Given the description of an element on the screen output the (x, y) to click on. 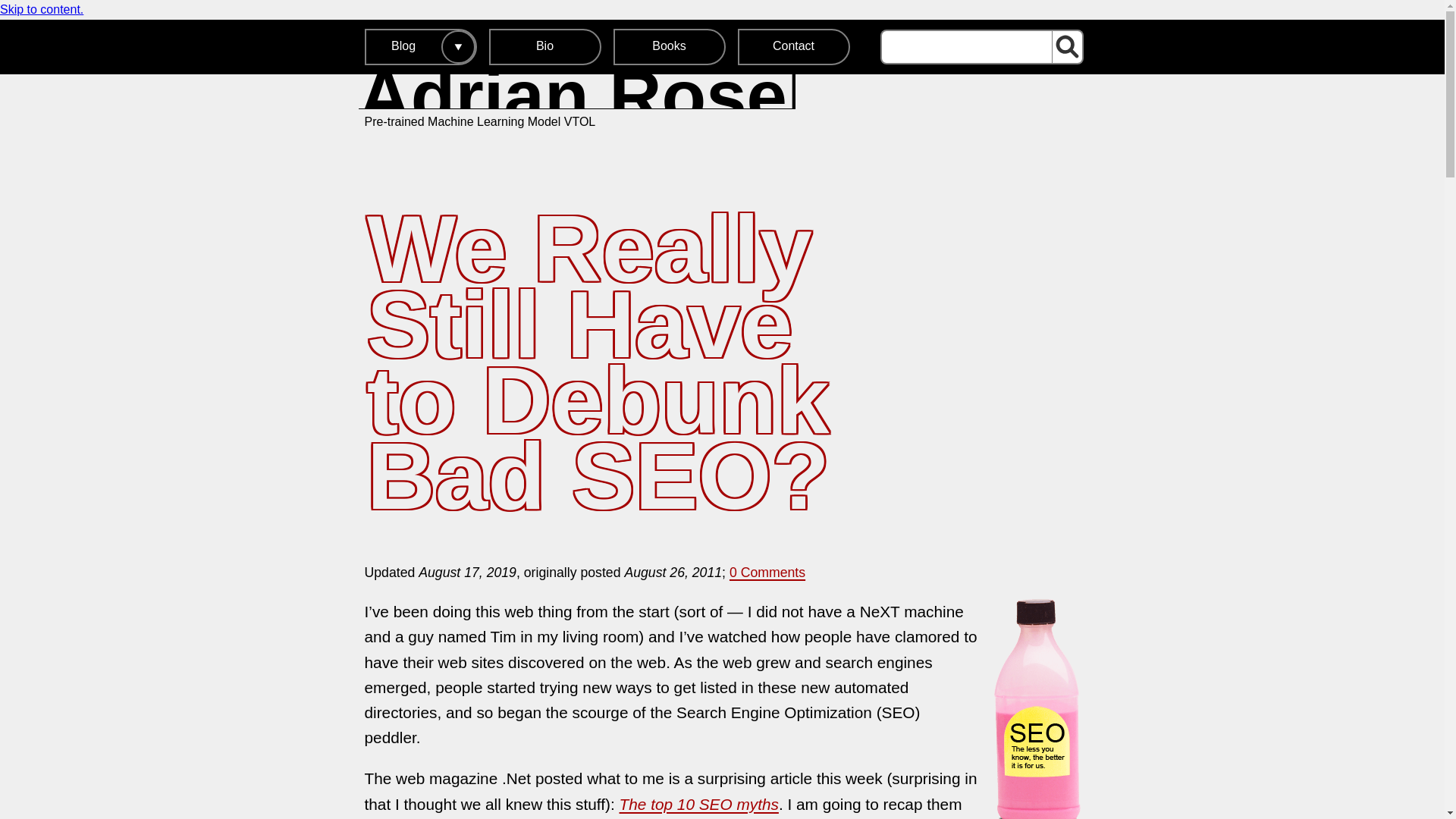
Contact (792, 46)
The top 10 SEO myths (699, 804)
Blog (403, 46)
Skip to content. (41, 9)
Books (668, 46)
Search (1066, 47)
Bio (543, 46)
0 Comments (576, 102)
